Given the description of an element on the screen output the (x, y) to click on. 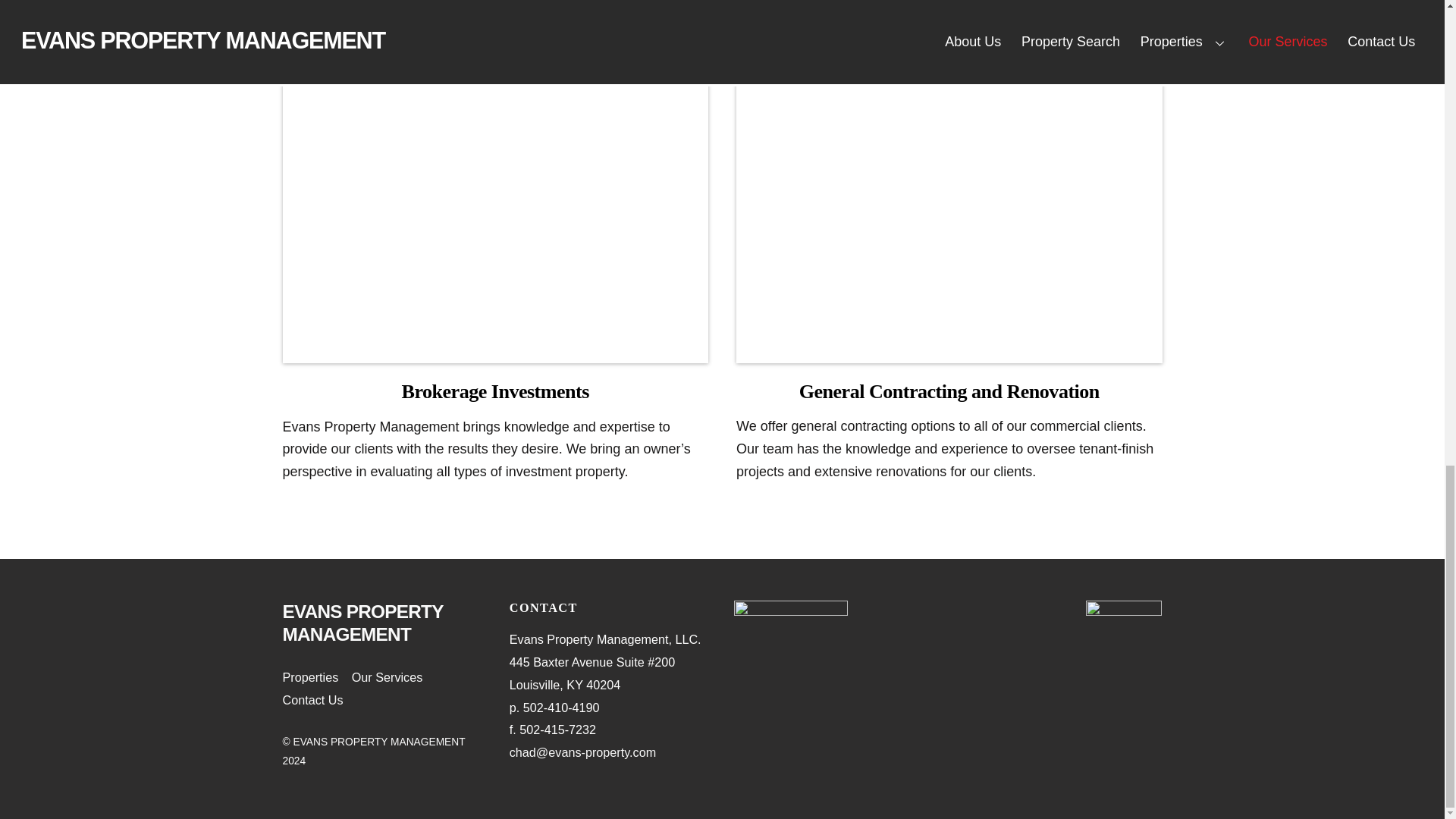
Our Services (387, 676)
EVANS PROPERTY MANAGEMENT (378, 741)
EVANS PROPERTY MANAGEMENT (362, 622)
Properties (309, 676)
EVANS PROPERTY MANAGEMENT (362, 622)
Contact Us (312, 699)
